Given the description of an element on the screen output the (x, y) to click on. 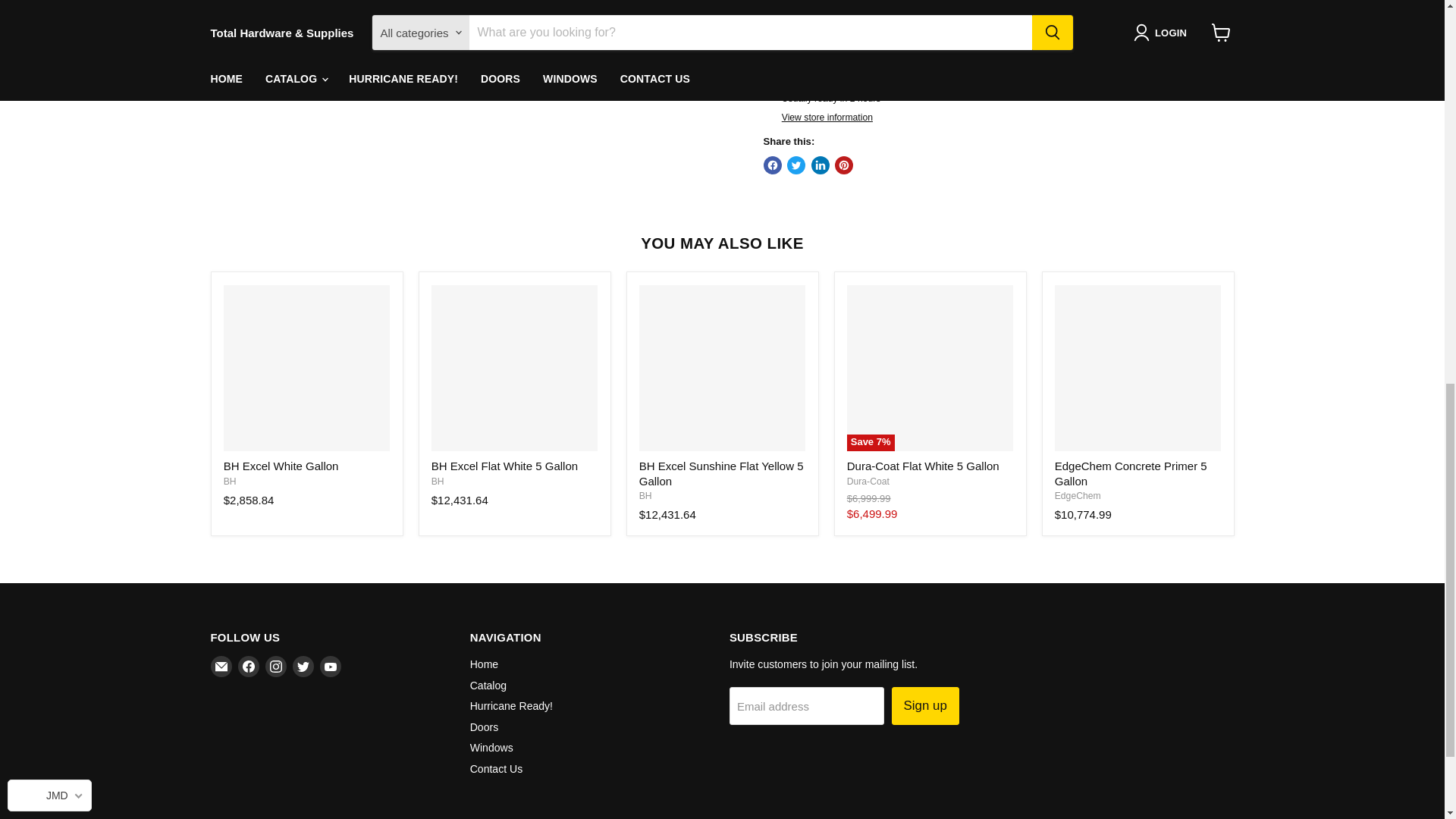
1 (838, 4)
Dura-Coat (868, 480)
BH (645, 495)
BH (229, 480)
BH (437, 480)
